Given the description of an element on the screen output the (x, y) to click on. 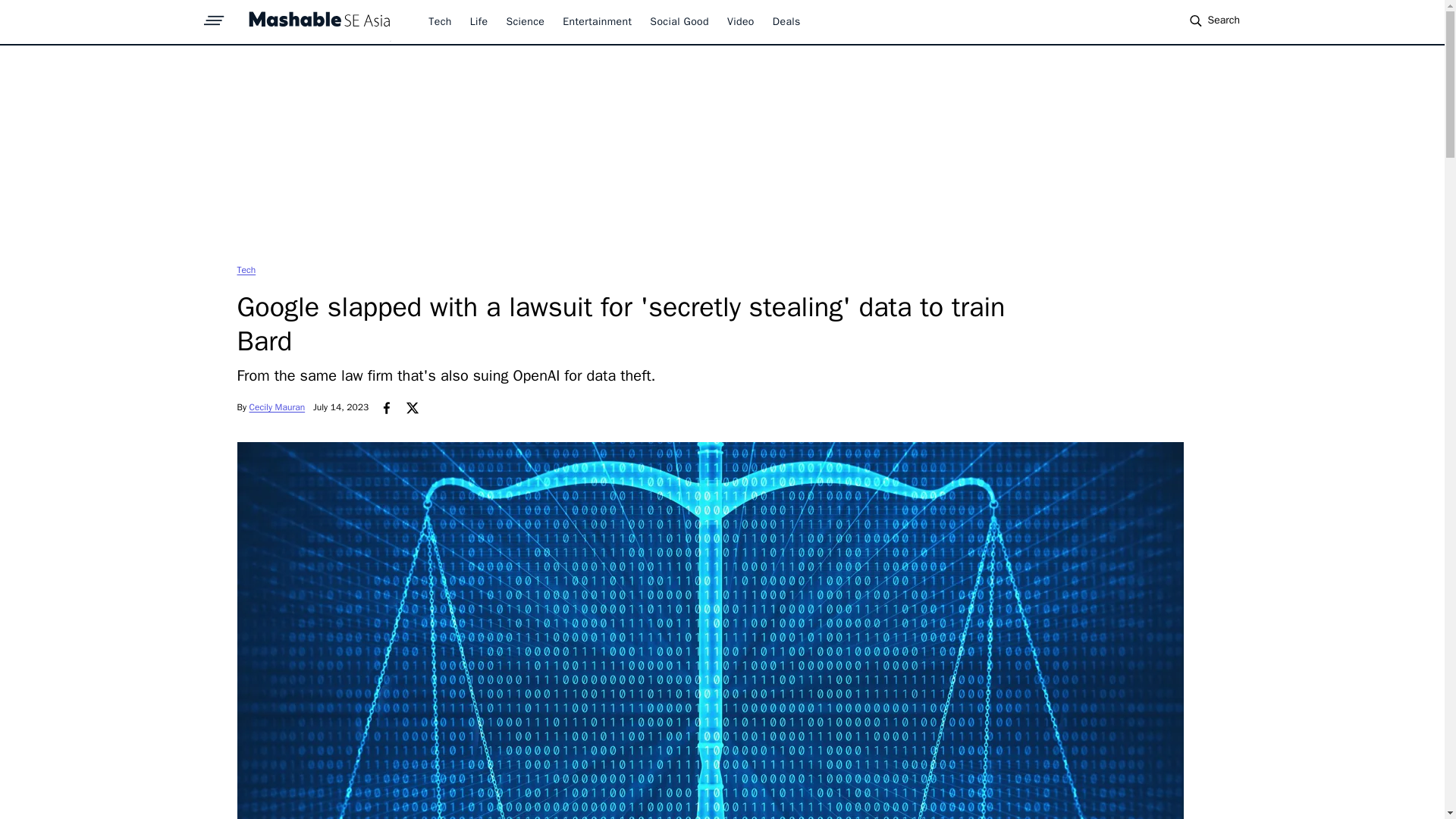
Entertainment (596, 21)
Cecily Mauran (276, 407)
Video (740, 21)
Tech (439, 21)
Life (478, 21)
Social Good (679, 21)
sprite-hamburger (213, 16)
Deals (786, 21)
Tech (245, 269)
Tech (245, 269)
